Given the description of an element on the screen output the (x, y) to click on. 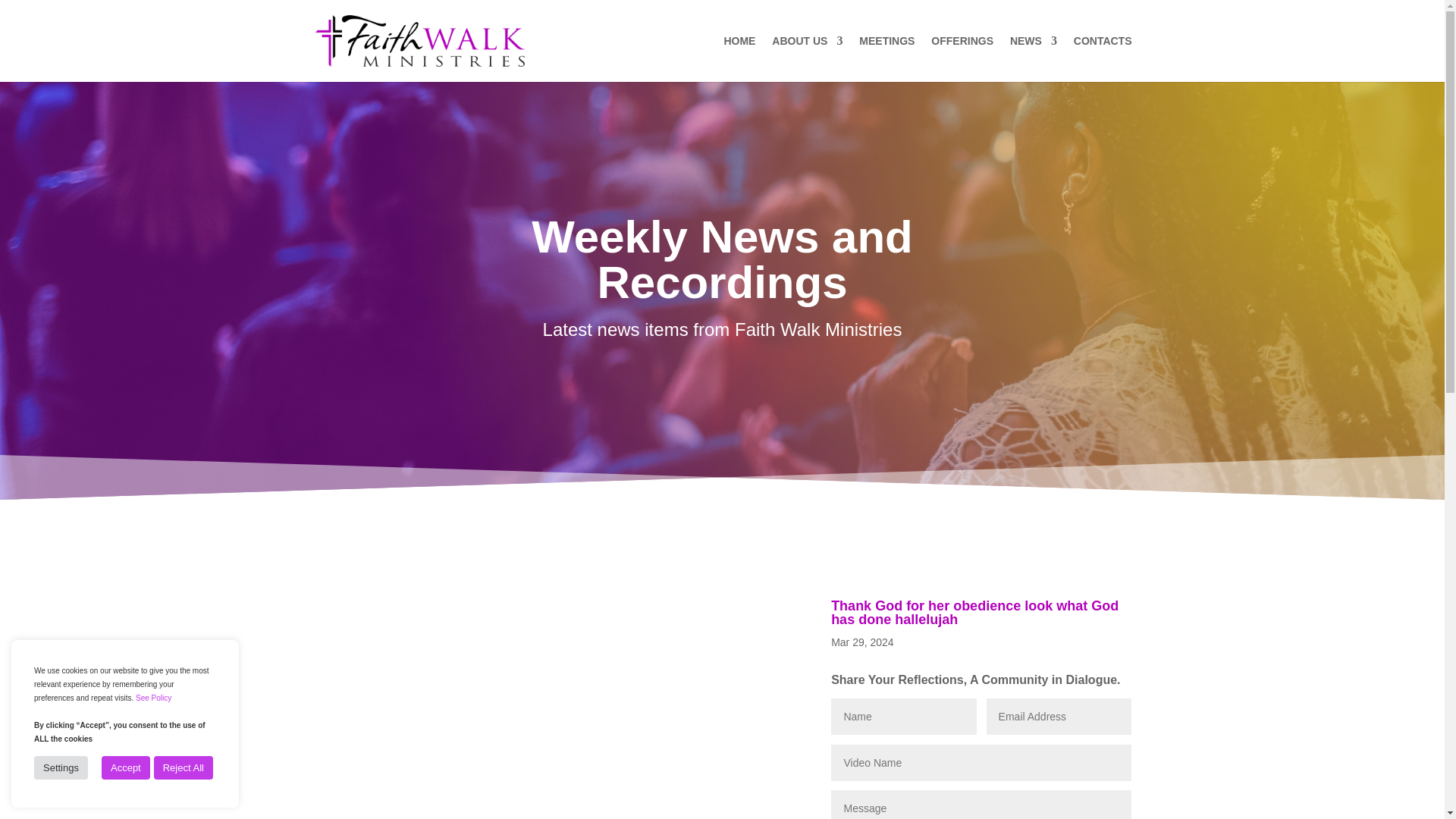
NEWS (1033, 58)
ABOUT US (807, 58)
MEETINGS (886, 58)
Reject All (183, 767)
Settings (60, 767)
CONTACTS (1103, 58)
See Policy (153, 697)
OFFERINGS (961, 58)
Accept (125, 767)
